Given the description of an element on the screen output the (x, y) to click on. 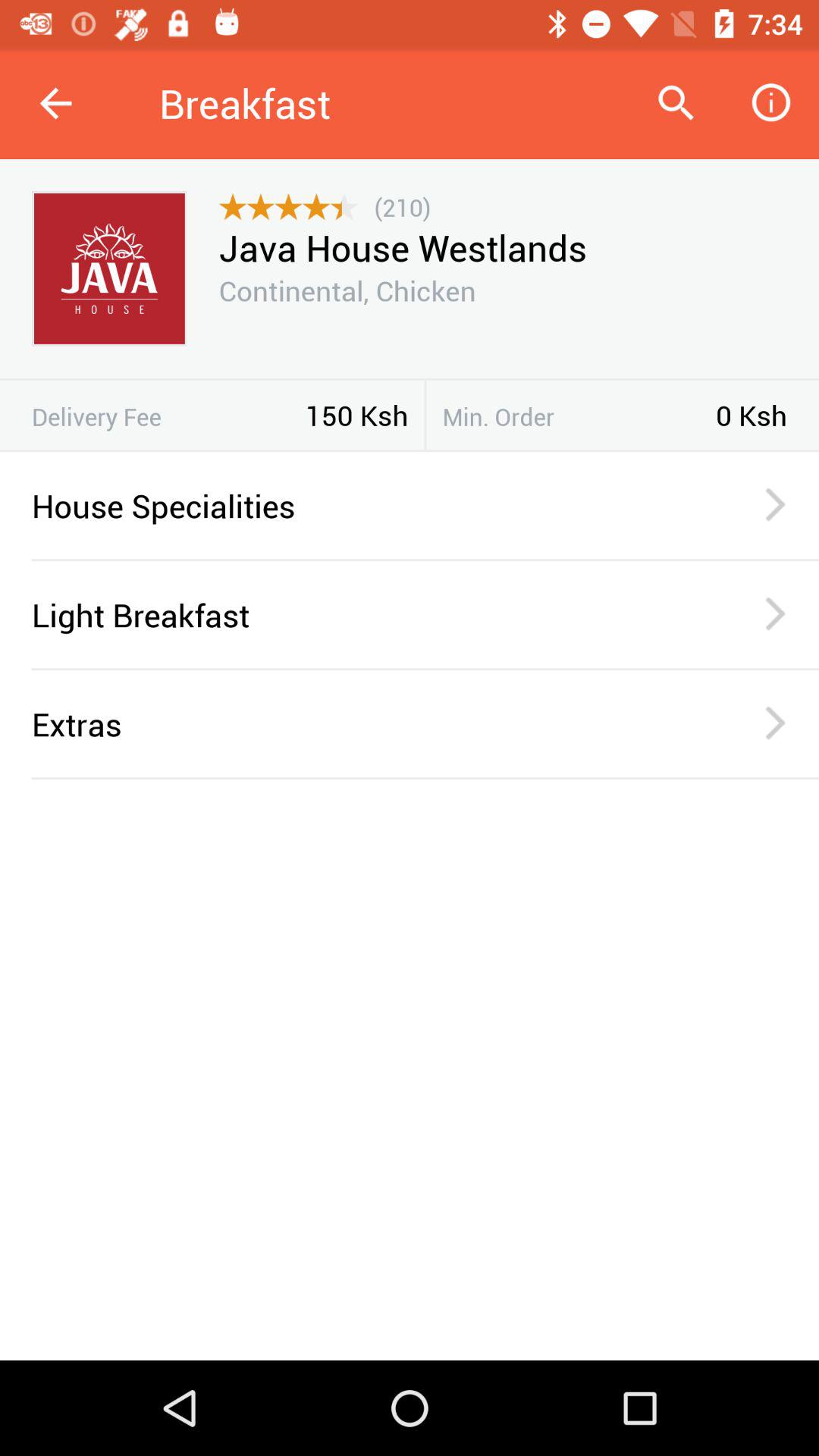
click the item above java house westlands icon (402, 207)
